Given the description of an element on the screen output the (x, y) to click on. 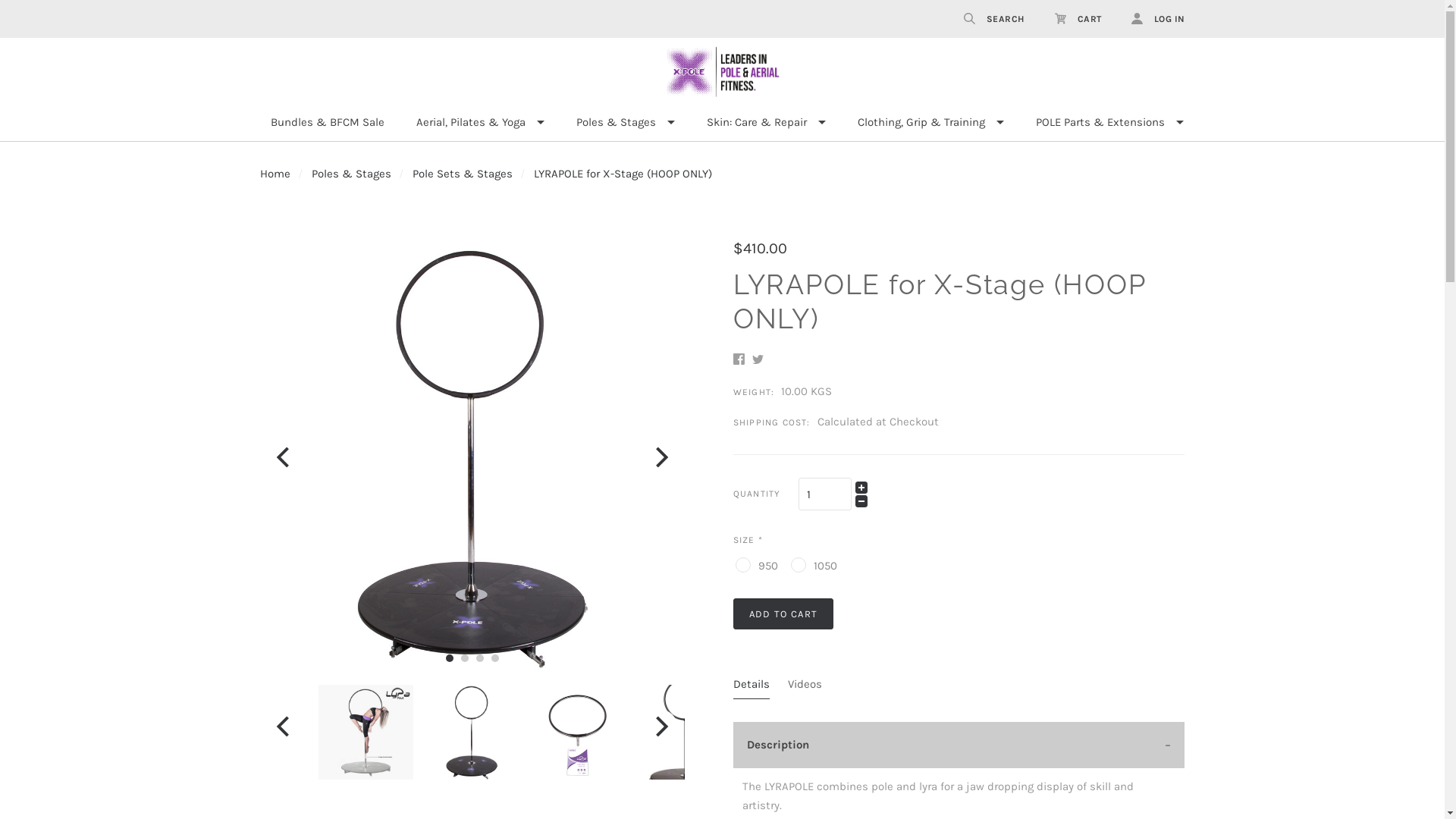
POLE Parts & Extensions Element type: text (1108, 122)
Poles & Stages Element type: text (350, 173)
Videos Element type: text (804, 686)
ADD TO CART Element type: text (783, 613)
Clothing, Grip & Training Element type: text (930, 122)
SEARCH Element type: text (992, 18)
Skin: Care & Repair Element type: text (765, 122)
Pole Sets & Stages Element type: text (462, 173)
Details Element type: text (751, 686)
LOG IN Element type: text (1150, 18)
Aerial, Pilates & Yoga Element type: text (479, 122)
Poles & Stages Element type: text (624, 122)
CART Element type: text (1077, 18)
LYRAPOLE for X-Stage (HOOP ONLY) Element type: text (622, 173)
Home Element type: text (274, 173)
Bundles & BFCM Sale Element type: text (327, 122)
